Given the description of an element on the screen output the (x, y) to click on. 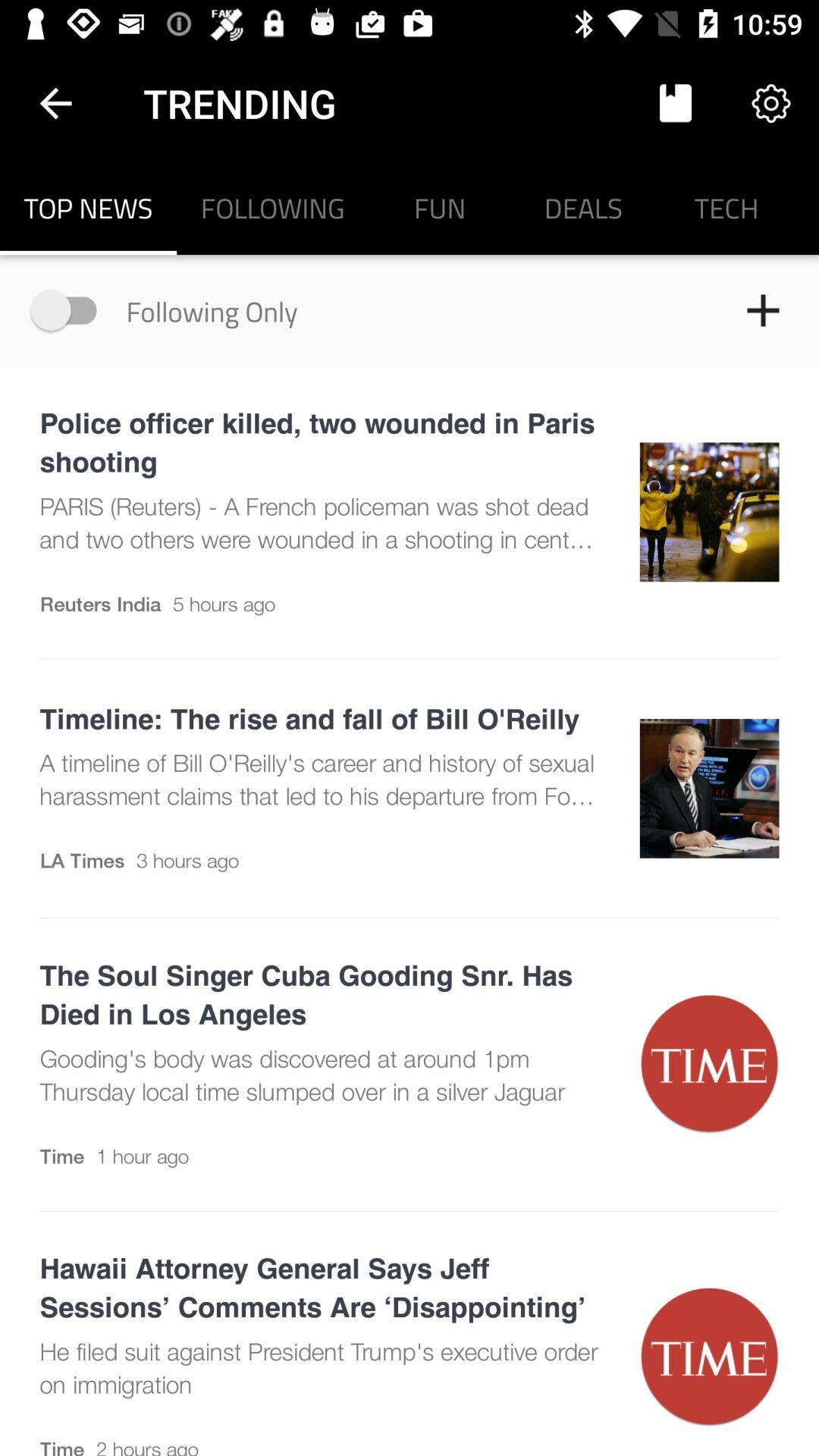
info button (70, 310)
